Given the description of an element on the screen output the (x, y) to click on. 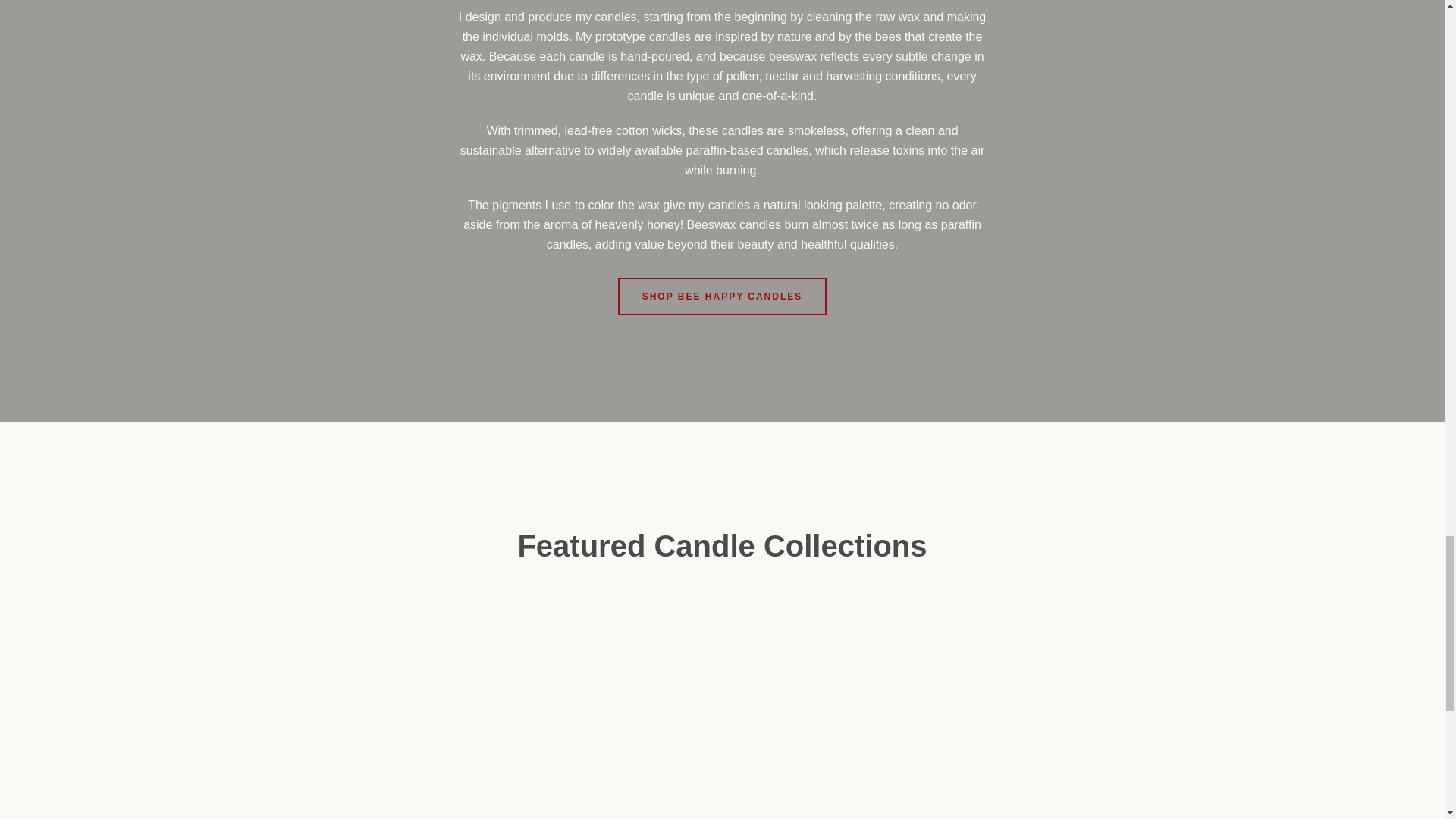
SHOP BEE HAPPY CANDLES (722, 296)
